Given the description of an element on the screen output the (x, y) to click on. 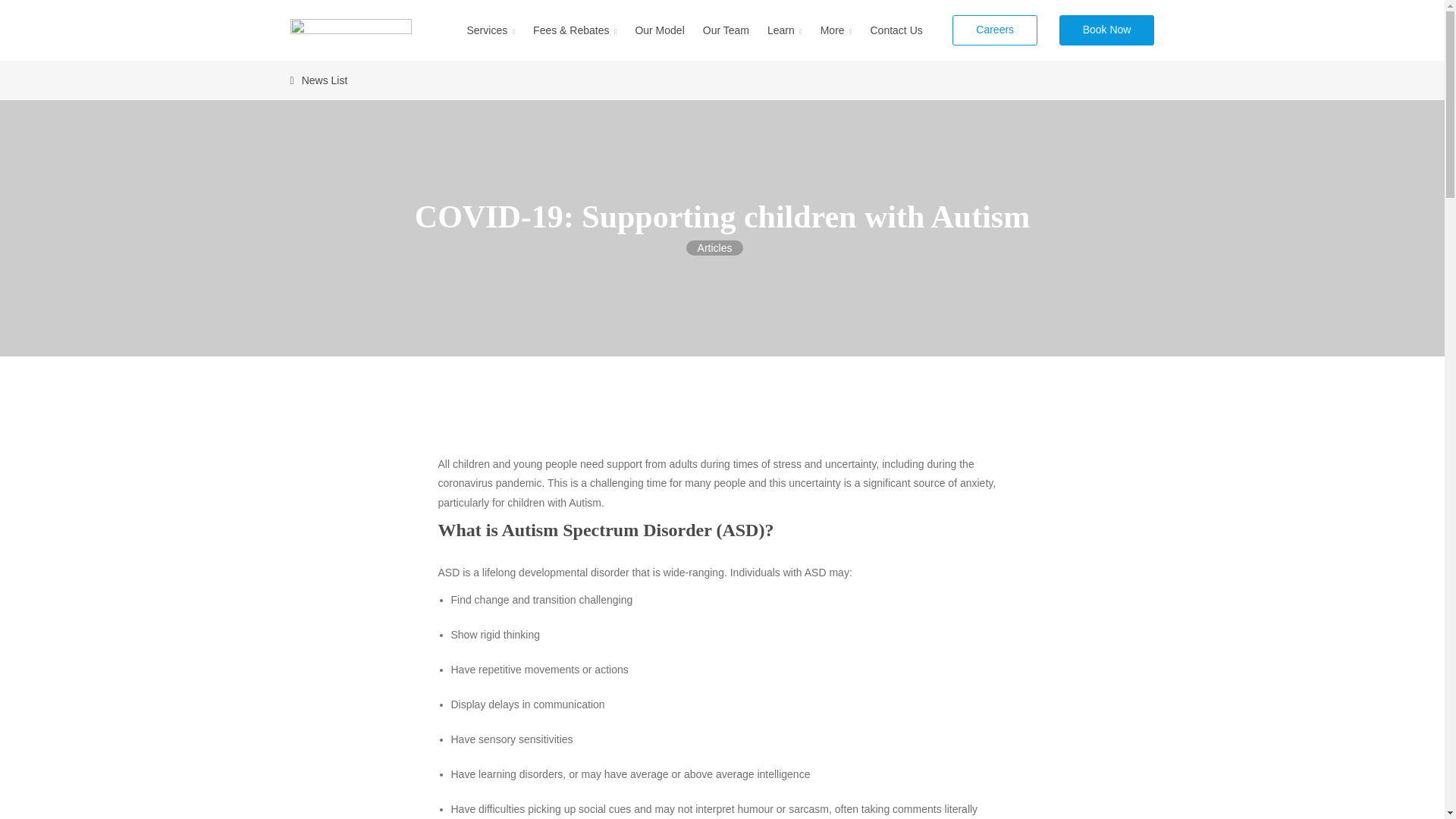
Our Model (659, 30)
Our Team (725, 30)
Learn (784, 30)
Services (490, 30)
